Given the description of an element on the screen output the (x, y) to click on. 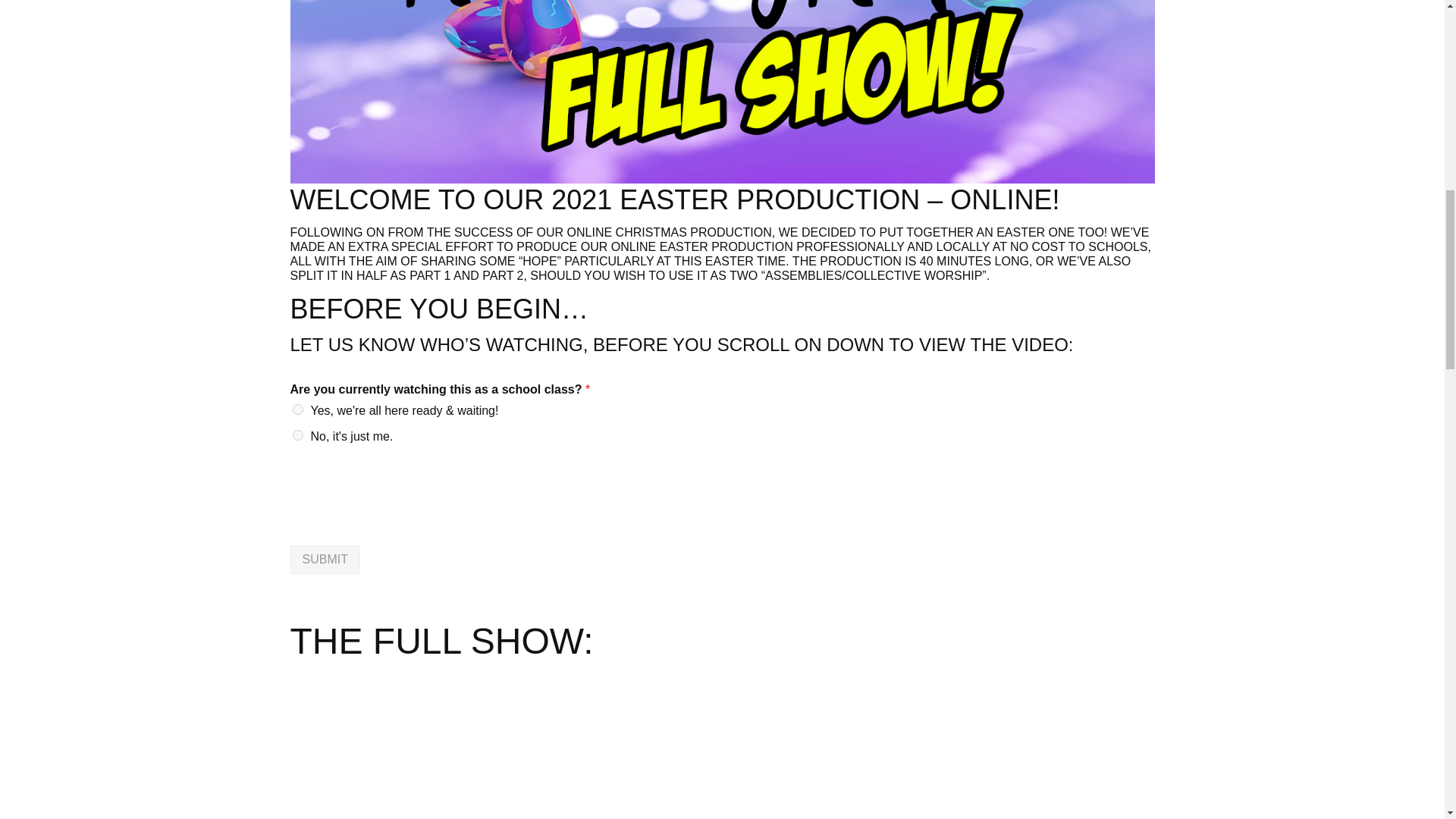
reCAPTCHA (404, 520)
No, it's just me. (297, 434)
